Given the description of an element on the screen output the (x, y) to click on. 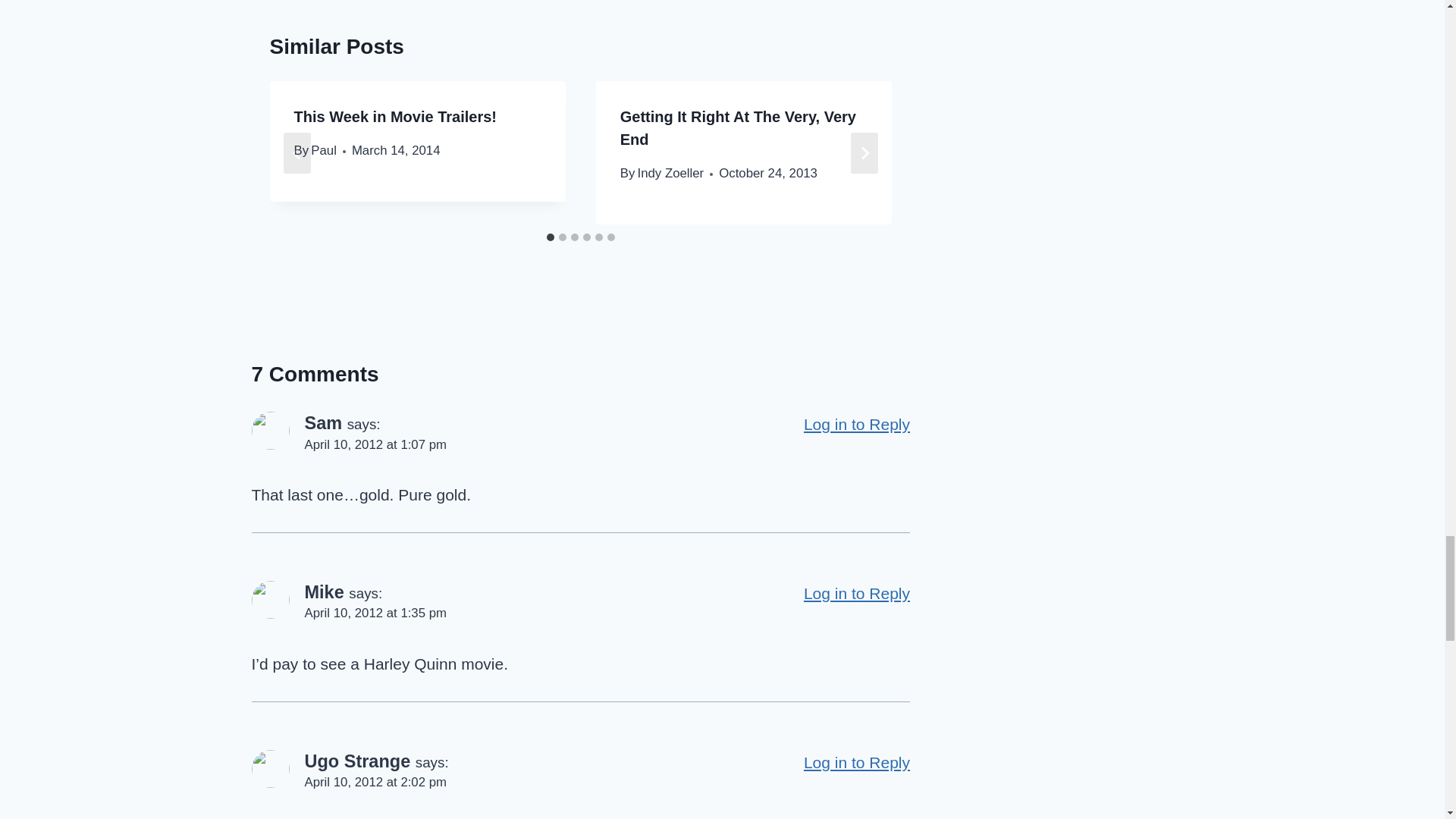
Getting It Right At The Very, Very End (738, 128)
Paul (323, 150)
Indy Zoeller (670, 173)
This Week in Movie Trailers! (395, 116)
